Given the description of an element on the screen output the (x, y) to click on. 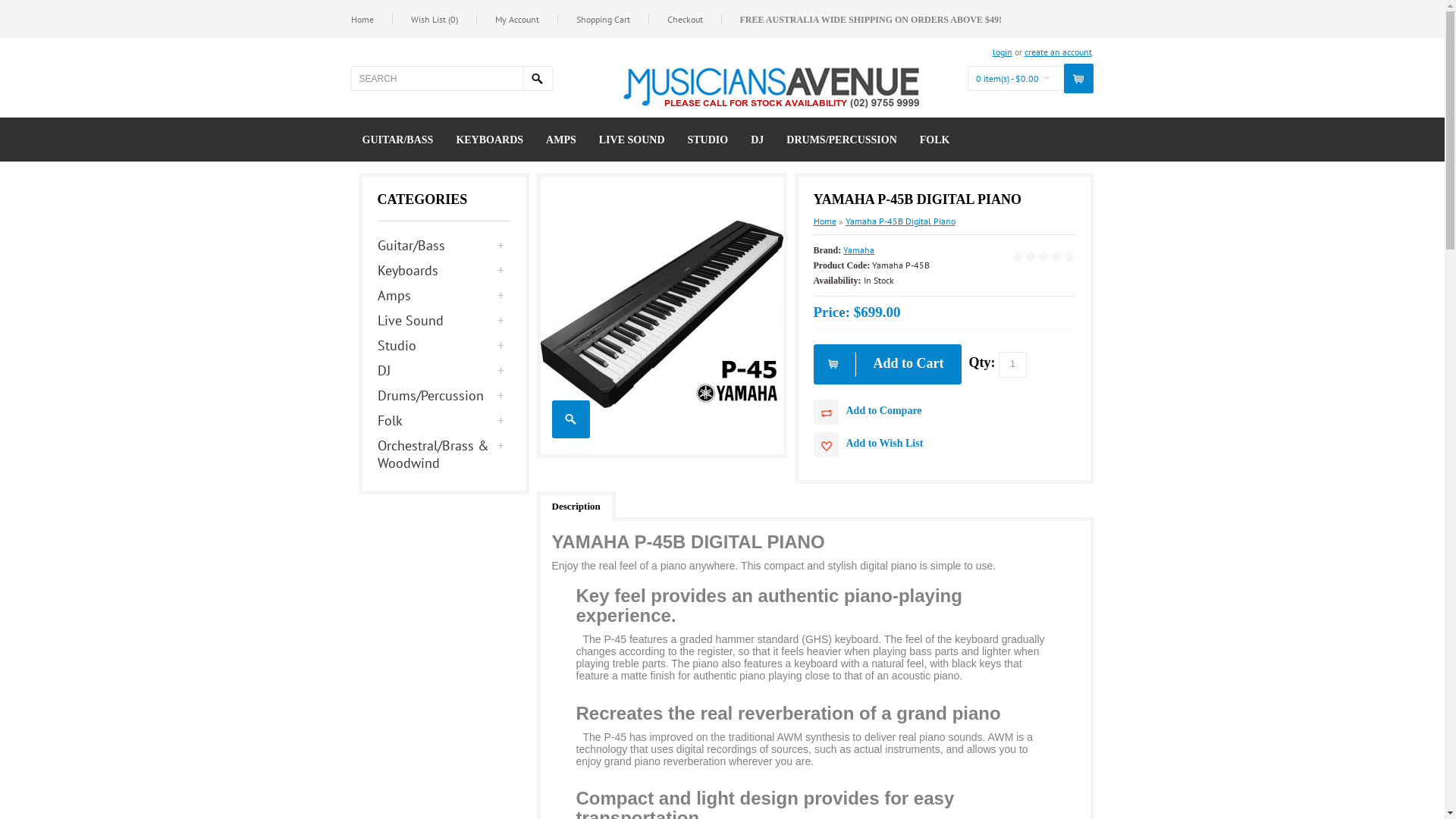
Drums/Percussion Element type: text (443, 394)
Go Element type: hover (536, 78)
Keyboards Element type: text (443, 269)
Shopping Cart Element type: text (612, 19)
Orchestral/Brass & Woodwind Element type: text (443, 454)
DRUMS/PERCUSSION Element type: text (841, 147)
Wish List (0) Element type: text (443, 19)
GUITAR/BASS Element type: text (397, 147)
Yamaha P-45B Digital Piano Element type: hover (660, 313)
Home Element type: text (371, 19)
0 item(s) - $0.00 Element type: text (1012, 78)
DJ Element type: text (756, 147)
Add to Compare Element type: text (943, 411)
Studio Element type: text (443, 344)
create an account Element type: text (1057, 51)
Folk Element type: text (443, 420)
Live Sound Element type: text (443, 319)
Search Element type: text (435, 78)
STUDIO Element type: text (707, 147)
Yamaha P-45B Digital Piano Element type: hover (660, 448)
Yamaha P-45B Digital Piano Element type: hover (570, 419)
My Account Element type: text (525, 19)
Amps Element type: text (443, 294)
Yamaha Element type: text (858, 249)
login Element type: text (1001, 51)
KEYBOARDS Element type: text (489, 147)
Description Element type: text (575, 505)
AMPS Element type: text (561, 147)
DJ Element type: text (443, 369)
Yamaha P-45B Digital Piano Element type: text (899, 220)
Guitar/Bass Element type: text (443, 244)
Add to Wish List Element type: text (943, 444)
FOLK Element type: text (934, 147)
Checkout Element type: text (694, 19)
LIVE SOUND Element type: text (632, 147)
Musicians Avenue Element type: hover (769, 86)
Home Element type: text (823, 220)
